Given the description of an element on the screen output the (x, y) to click on. 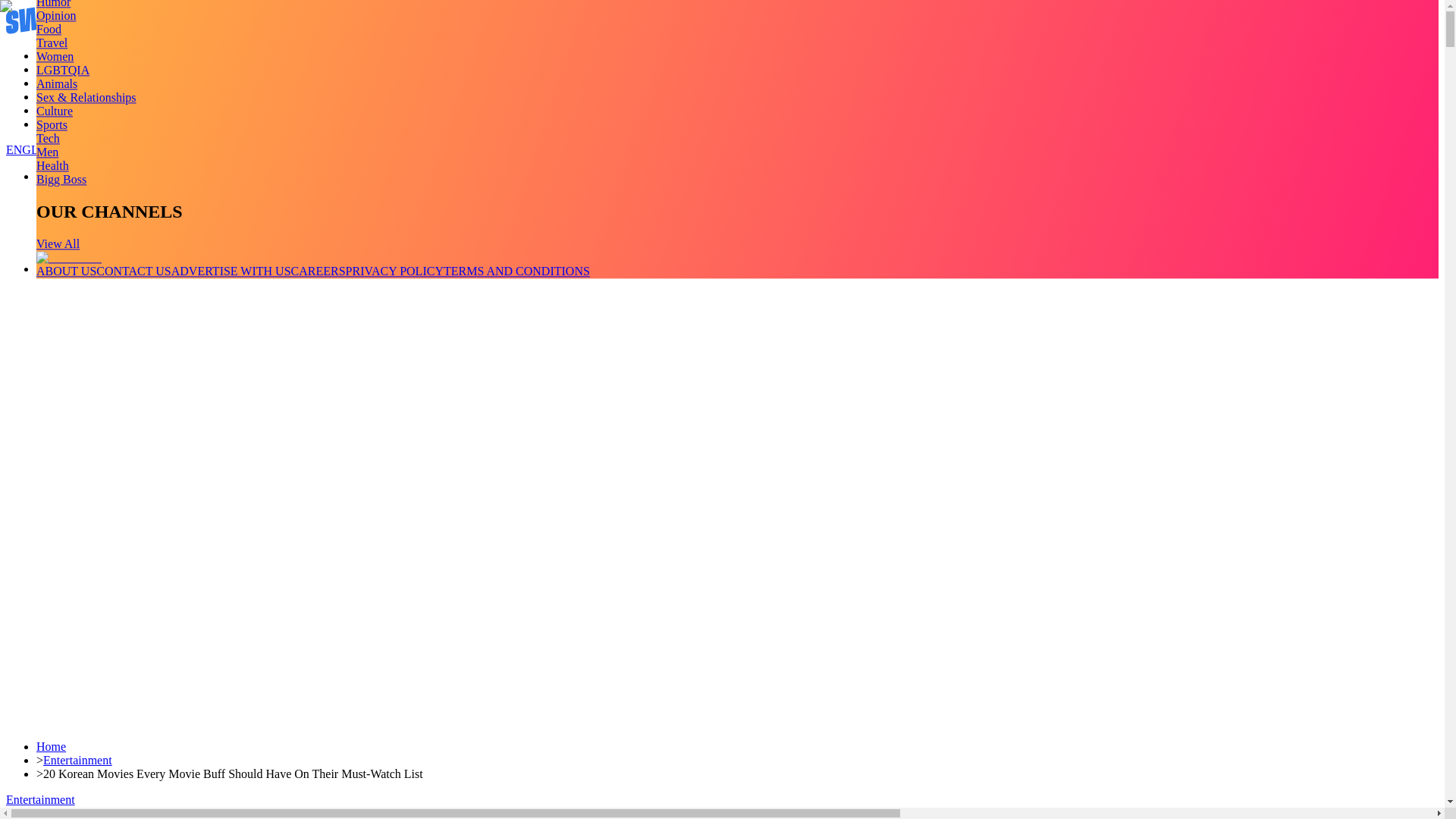
Opinion (55, 15)
Bigg Boss (60, 178)
Travel (51, 42)
ENGLISH (31, 149)
ABOUT US (66, 270)
Animals (56, 83)
Women (55, 56)
Quizzes (55, 96)
ADVERTISE WITH US (231, 270)
LGBTQIA (62, 69)
CONTACT US (133, 270)
Trending (58, 55)
Spotlight (58, 123)
Culture (54, 110)
Sports (51, 124)
